Given the description of an element on the screen output the (x, y) to click on. 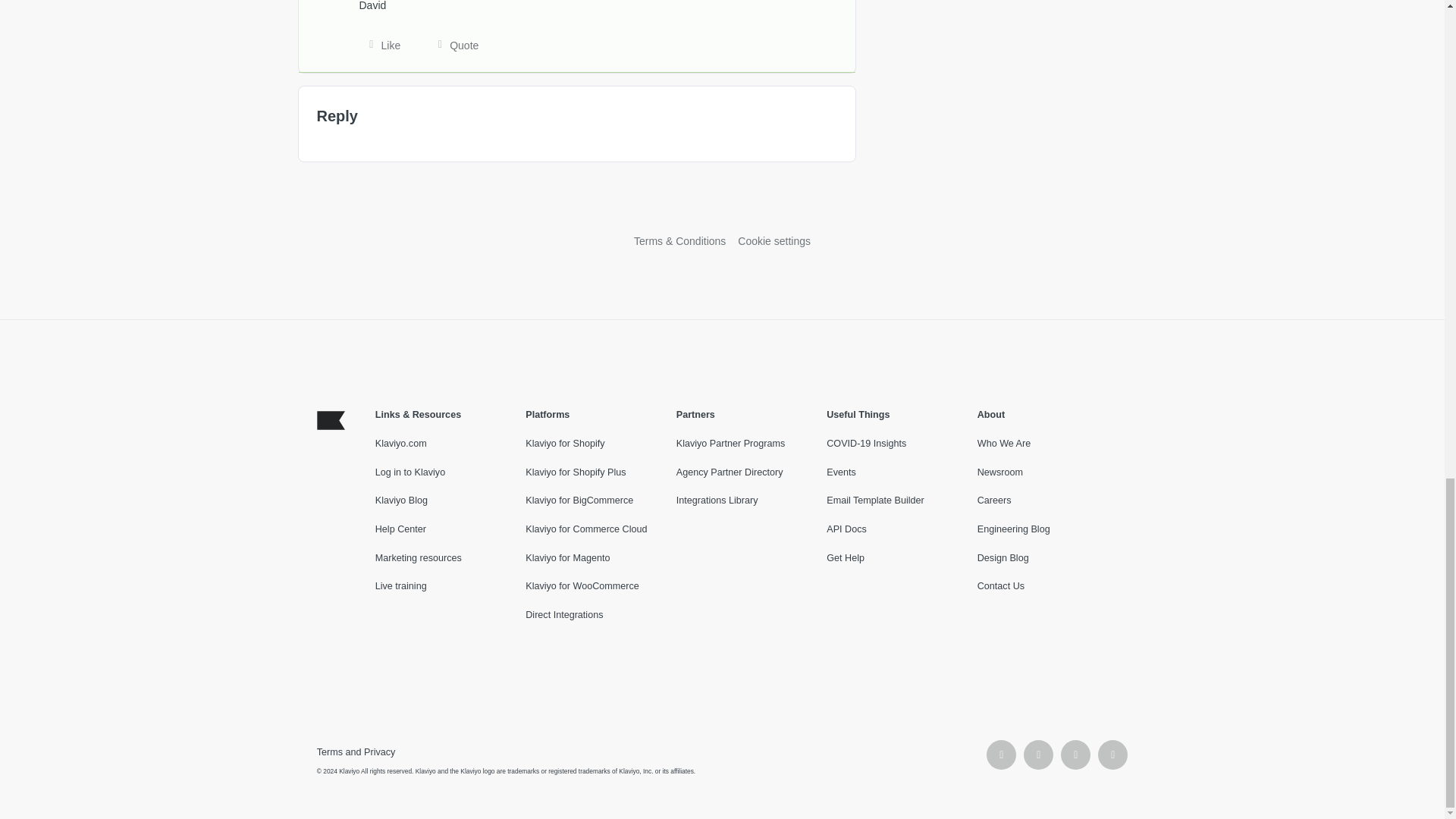
Like (380, 45)
Klaviyo.com (400, 443)
Visit Gainsight.com (722, 210)
Cookie settings (774, 241)
Quote (453, 45)
